Given the description of an element on the screen output the (x, y) to click on. 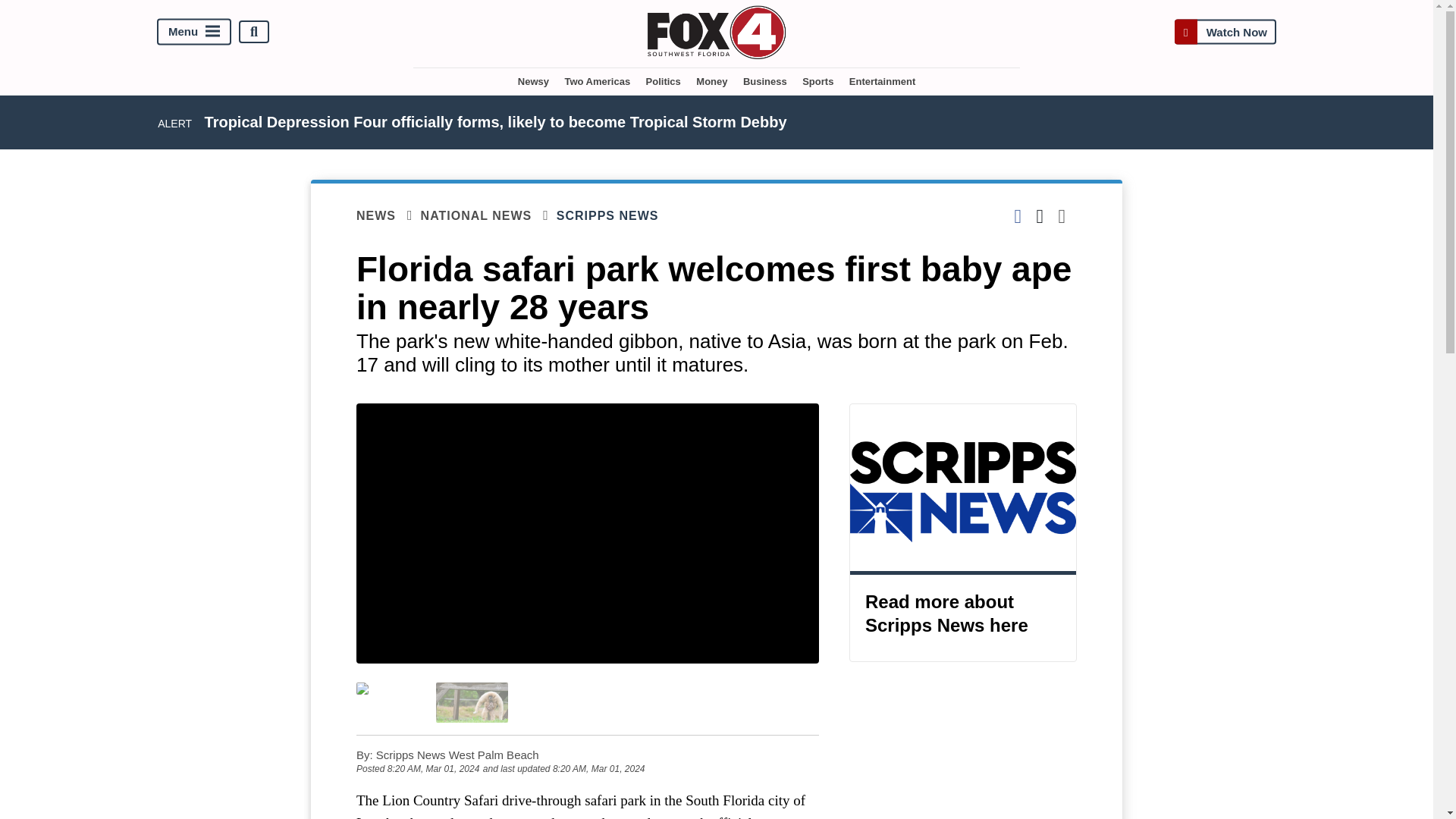
Watch Now (1224, 31)
Menu (194, 31)
